Given the description of an element on the screen output the (x, y) to click on. 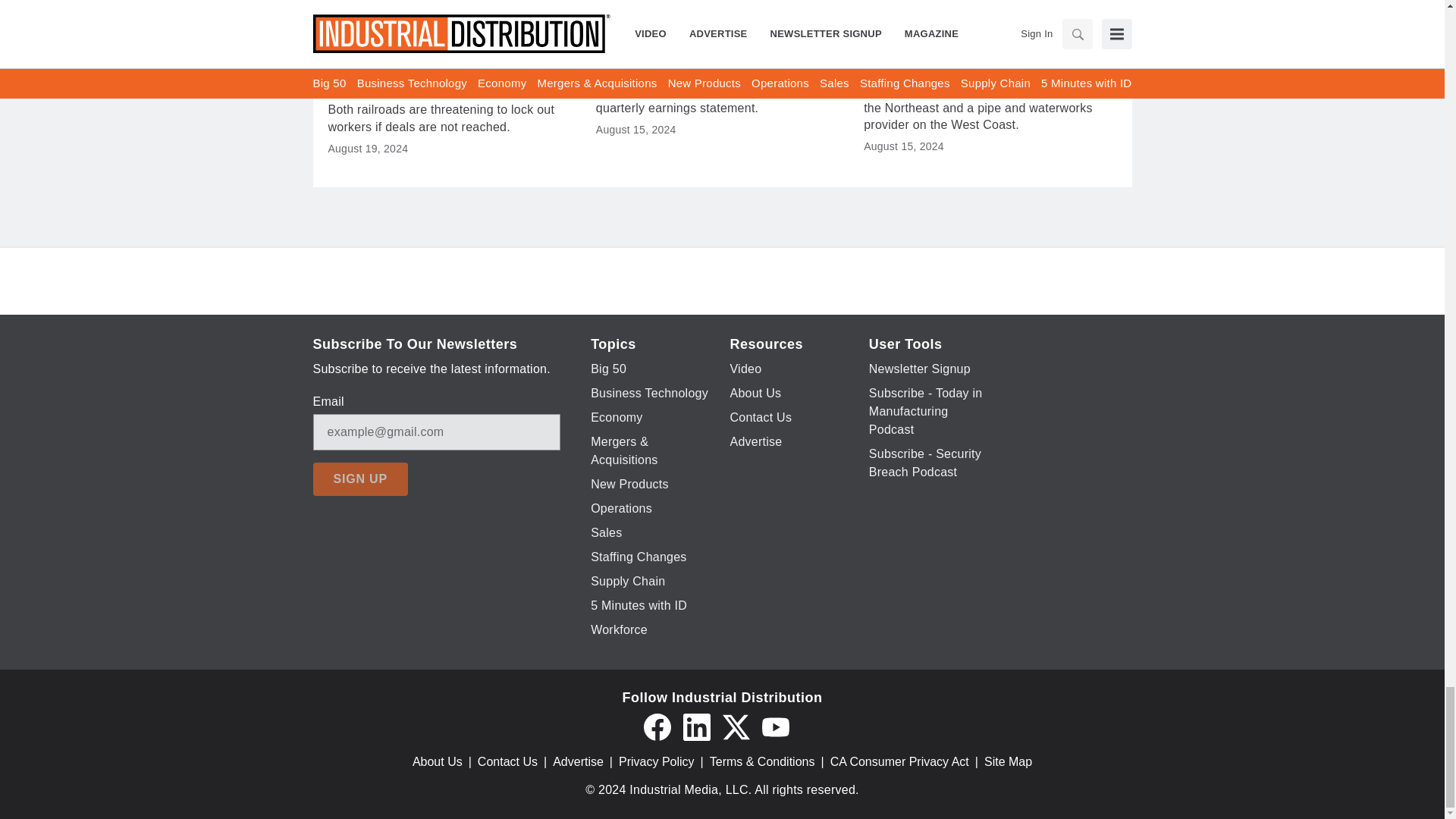
YouTube icon (775, 727)
Facebook icon (656, 727)
LinkedIn icon (696, 727)
Twitter X icon (735, 727)
